Given the description of an element on the screen output the (x, y) to click on. 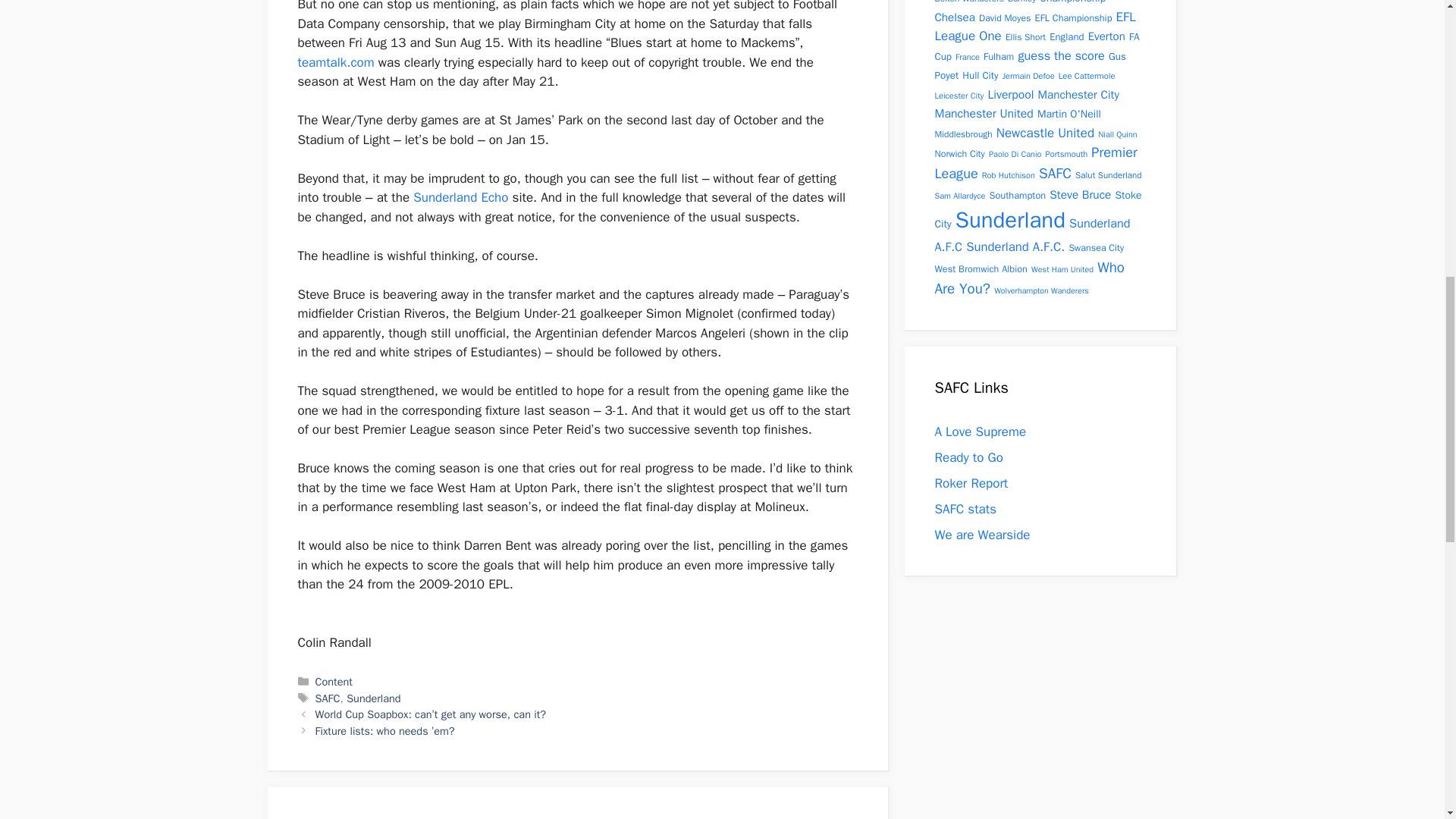
EFL League One (1034, 27)
Burnley (1021, 2)
Sunderland (373, 698)
Ellis Short (1025, 37)
David Moyes (1004, 18)
Bolton Wanderers (968, 2)
Sunderland Echo (460, 197)
England (1066, 36)
Content (333, 681)
Everton (1106, 35)
FA Cup (1036, 46)
EFL Championship (1073, 18)
Chelsea (954, 16)
teamtalk.com (335, 62)
SAFC (327, 698)
